Given the description of an element on the screen output the (x, y) to click on. 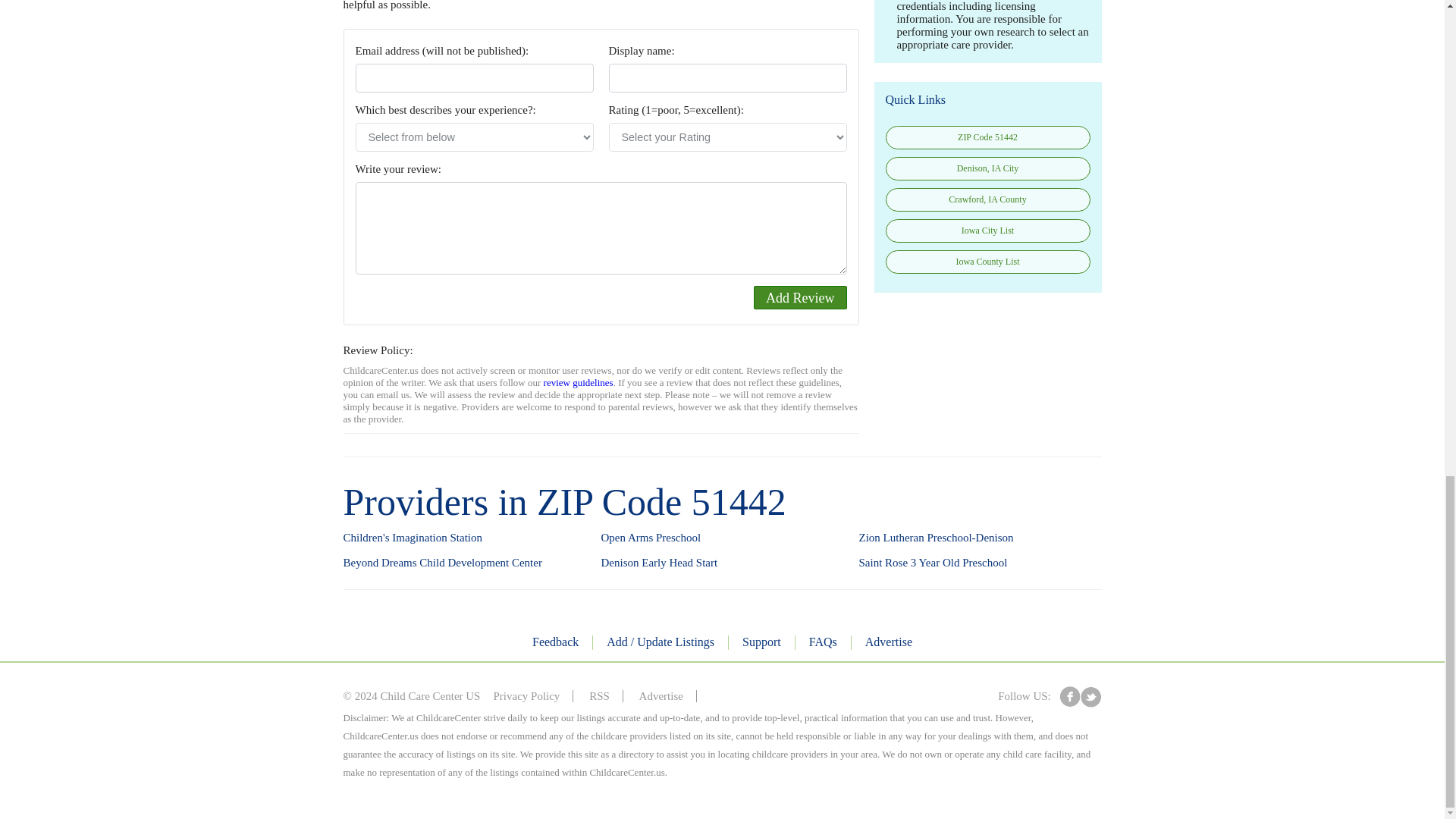
Denison, IA City (987, 168)
Beyond Dreams Child Development Center (441, 563)
Iowa County List (987, 261)
Children's Imagination Station (411, 538)
Add and Update Free Listing (660, 642)
ZIP Code 51442 (987, 137)
Add Review (799, 297)
Iowa City List (987, 230)
Open Arms Preschool (649, 538)
Crawford, IA County (987, 199)
